Given the description of an element on the screen output the (x, y) to click on. 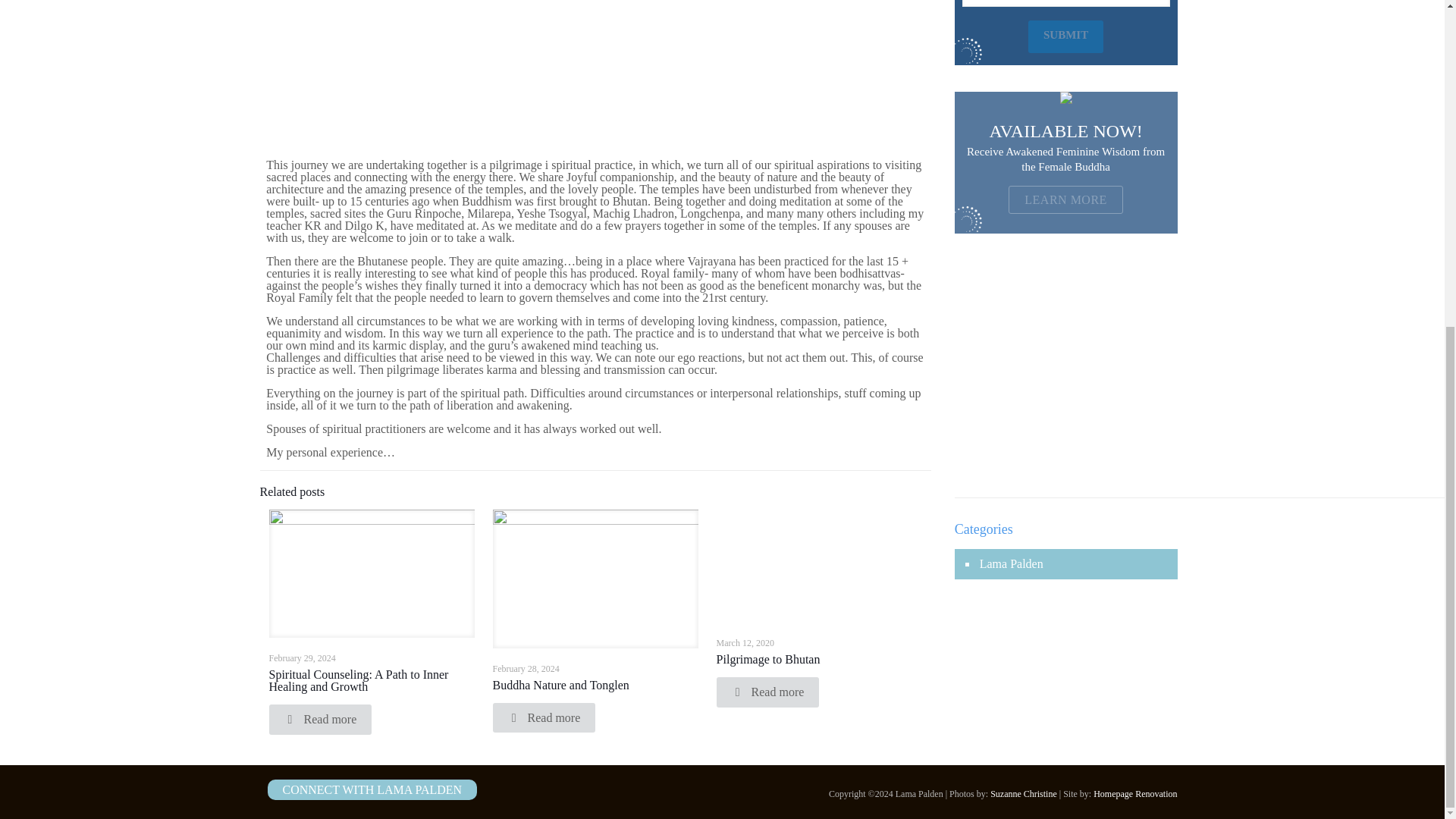
VISIT THE WEBSITE (1065, 415)
Pilgrimage to Bhutan (768, 658)
Read more (767, 691)
LEARN MORE (1065, 199)
Read more (319, 718)
SUBMIT (1065, 36)
Spiritual Counseling: A Path to Inner Healing and Growth (357, 680)
SUBMIT (1065, 36)
Read more (544, 717)
Lama Palden (1009, 563)
